Given the description of an element on the screen output the (x, y) to click on. 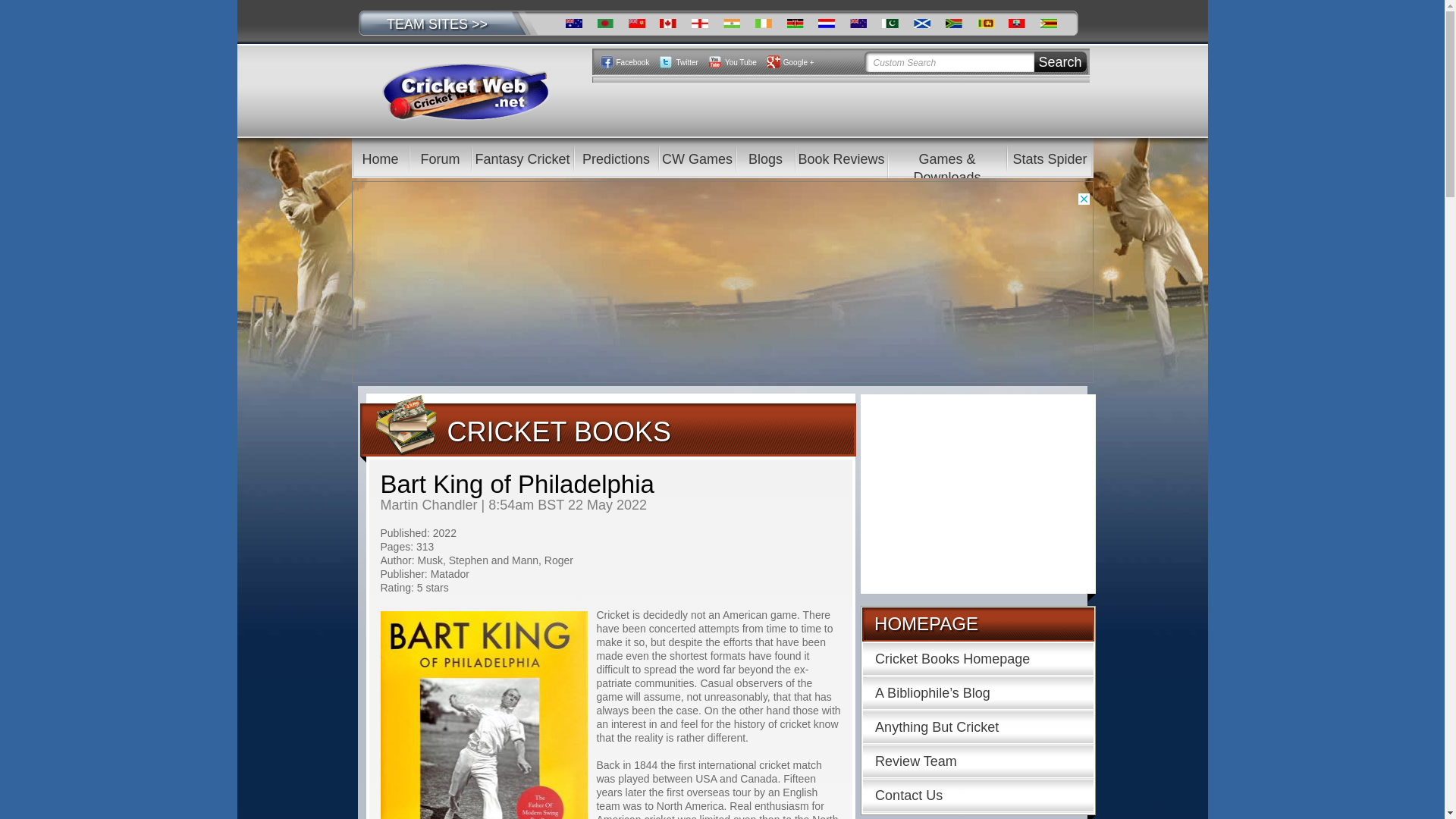
Advertisement (978, 492)
Posts by Martin Chandler (428, 504)
Search (1059, 61)
